Given the description of an element on the screen output the (x, y) to click on. 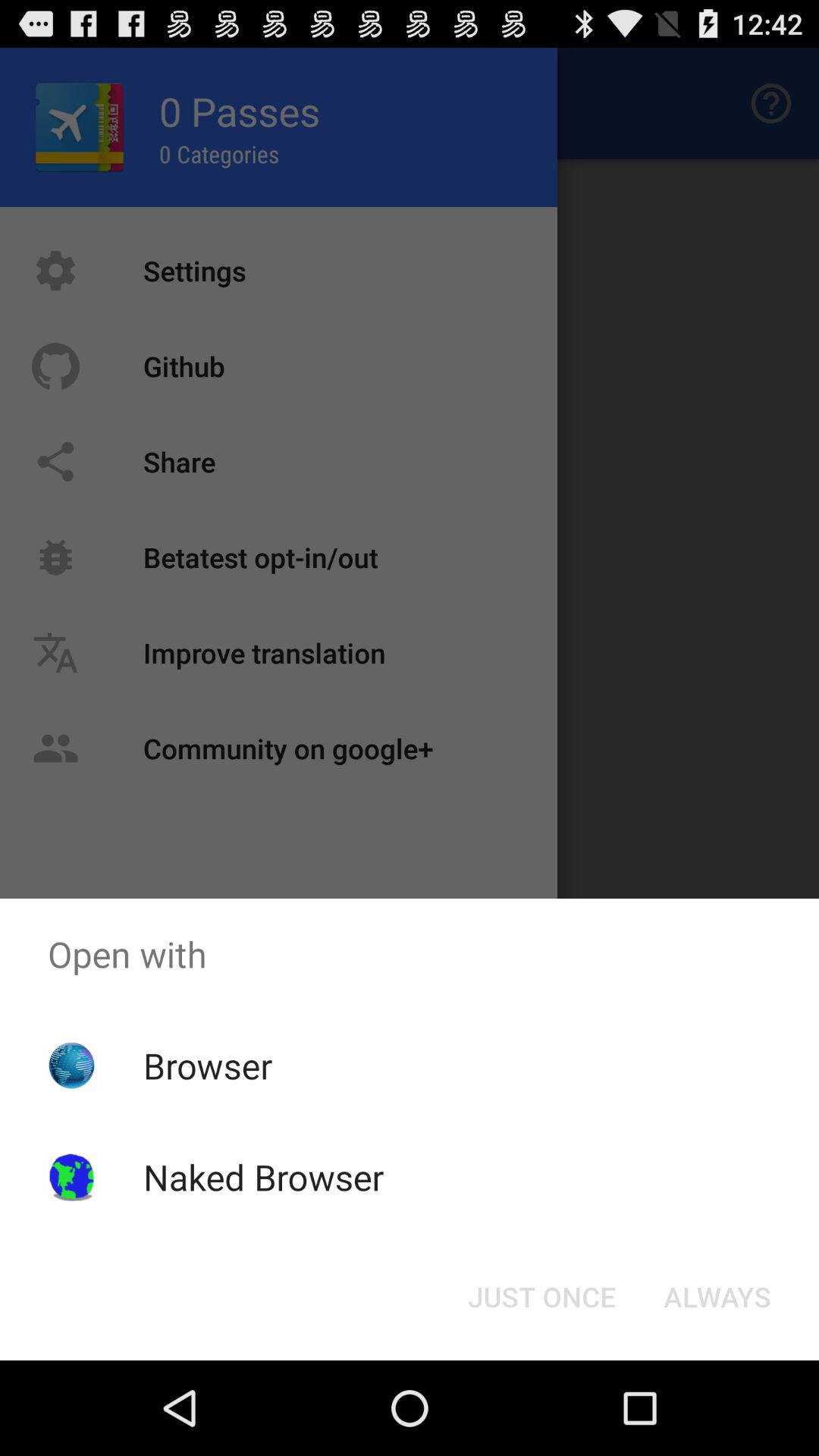
open the icon to the left of always icon (541, 1296)
